Given the description of an element on the screen output the (x, y) to click on. 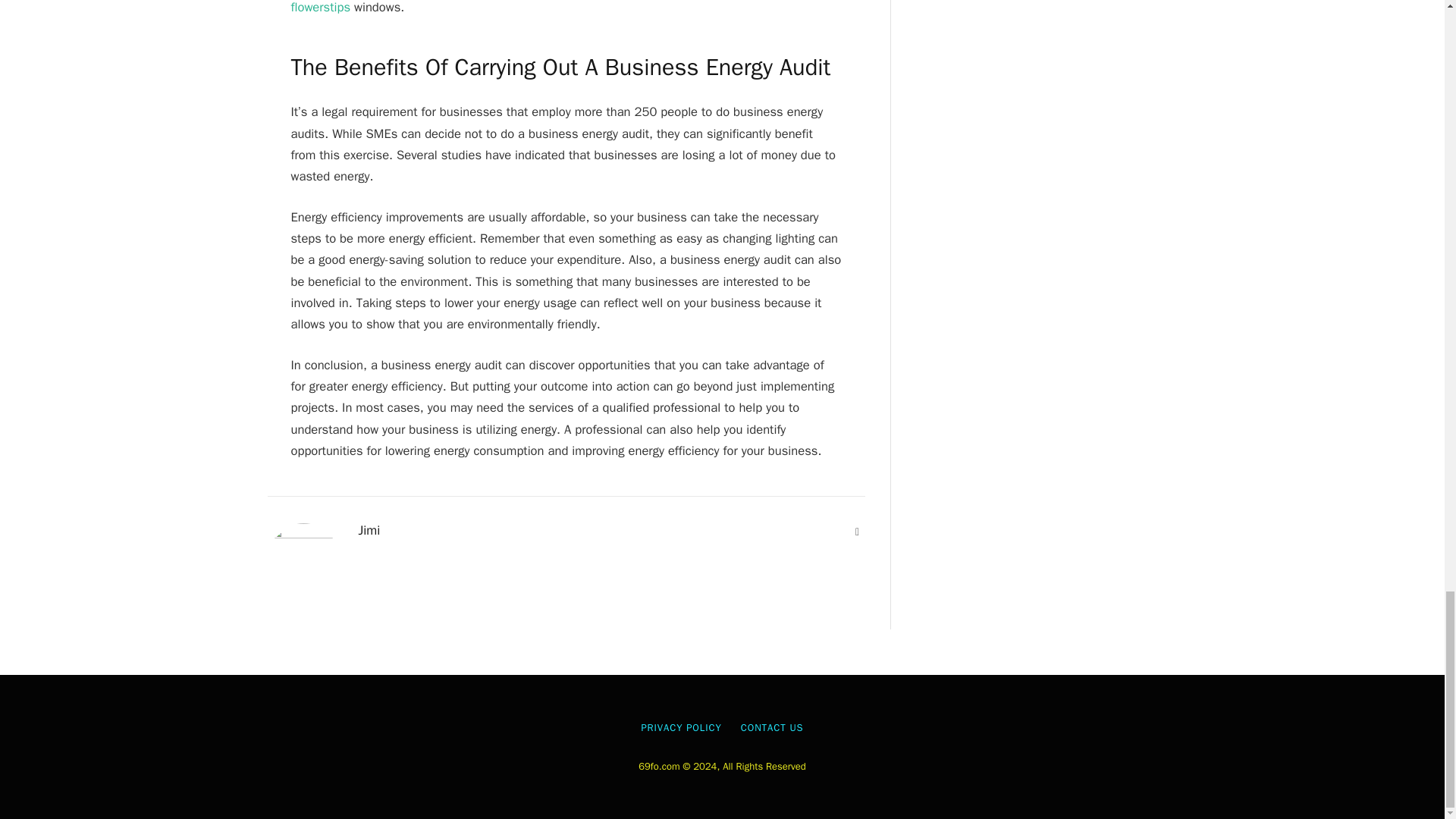
Website (856, 531)
Website (856, 531)
flowerstips (320, 7)
Posts by Jimi (369, 530)
Jimi (369, 530)
